Given the description of an element on the screen output the (x, y) to click on. 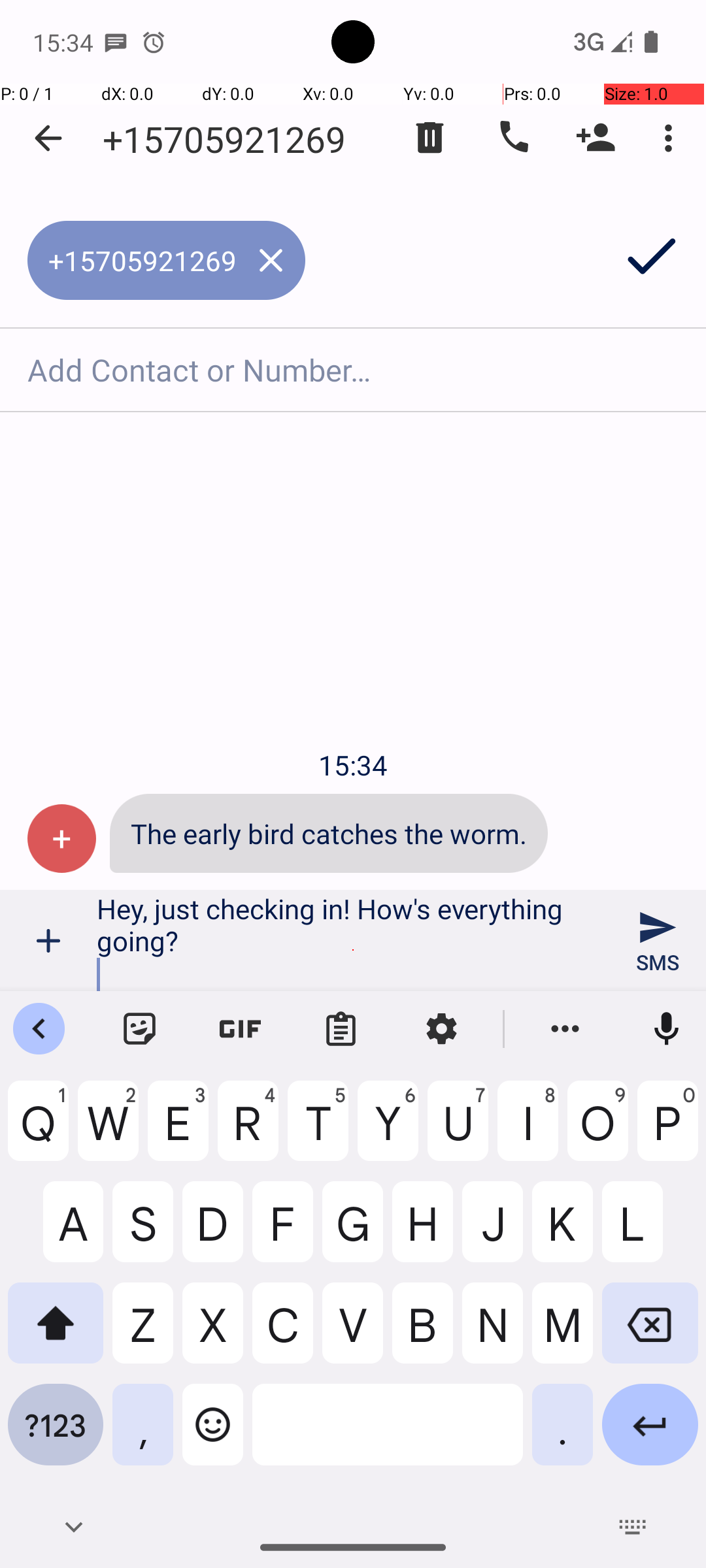
+15705921269 Element type: android.widget.TextView (223, 138)
Hey, just checking in! How's everything going?
 Element type: android.widget.EditText (352, 940)
The early bird catches the worm. Element type: android.widget.TextView (328, 832)
